Given the description of an element on the screen output the (x, y) to click on. 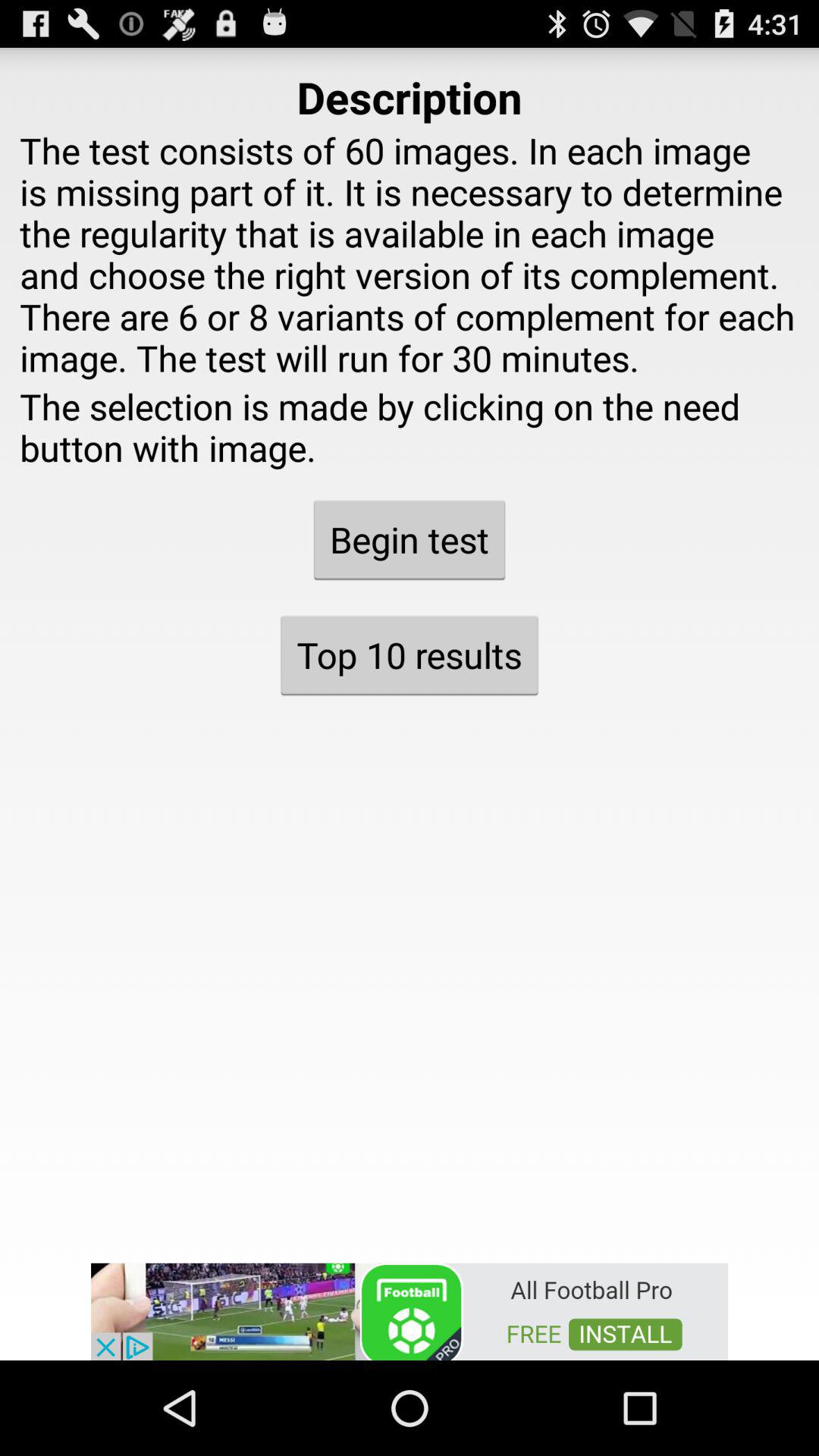
the go to advertisement option (409, 1310)
